Given the description of an element on the screen output the (x, y) to click on. 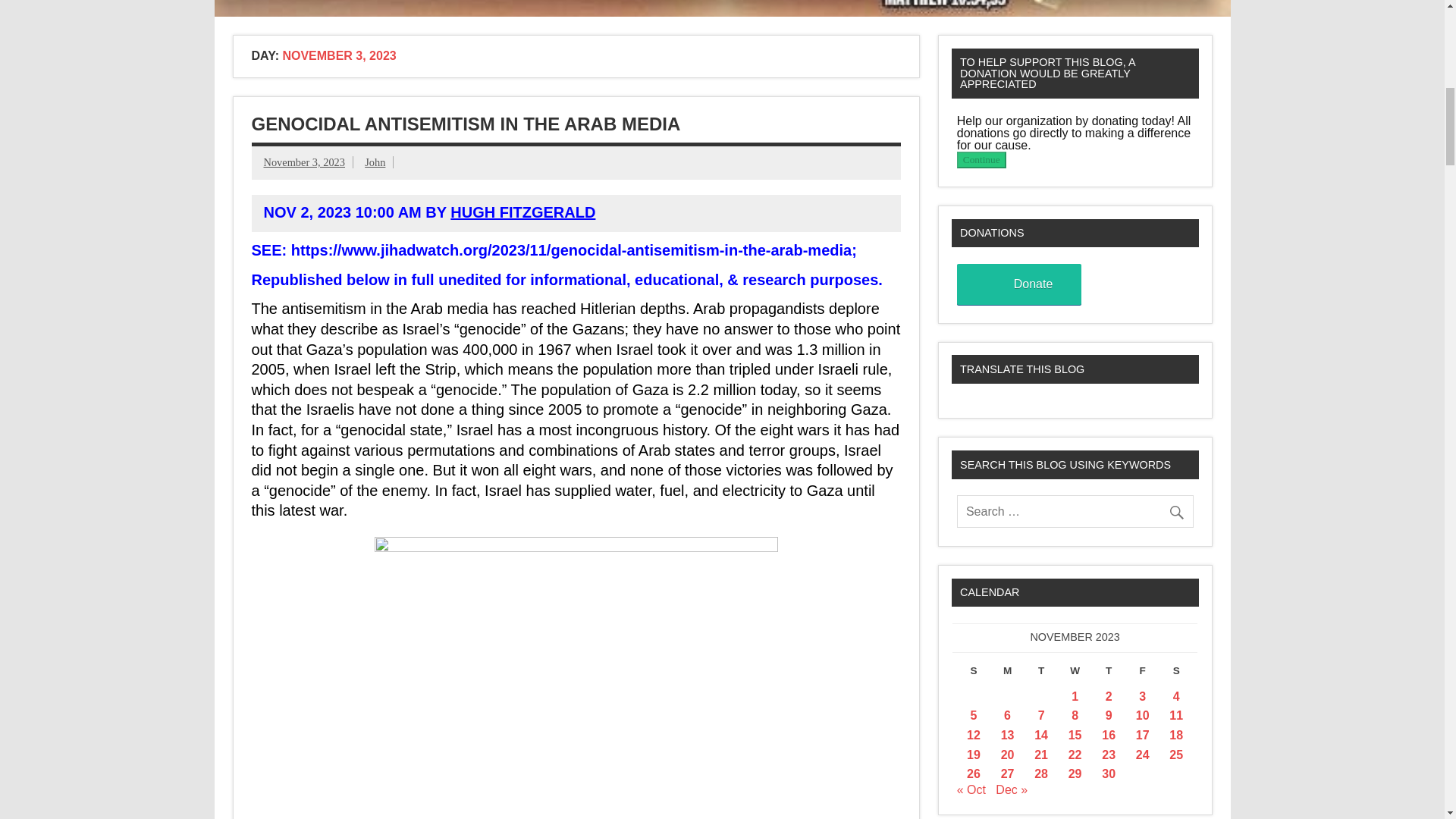
2:22 PM (304, 162)
November 3, 2023 (304, 162)
View all posts by John (375, 162)
John (375, 162)
HUGH FITZGERALD (522, 211)
Tuesday (1041, 673)
Monday (1007, 673)
Sunday (973, 673)
GENOCIDAL ANTISEMITISM IN THE ARAB MEDIA (466, 123)
